Given the description of an element on the screen output the (x, y) to click on. 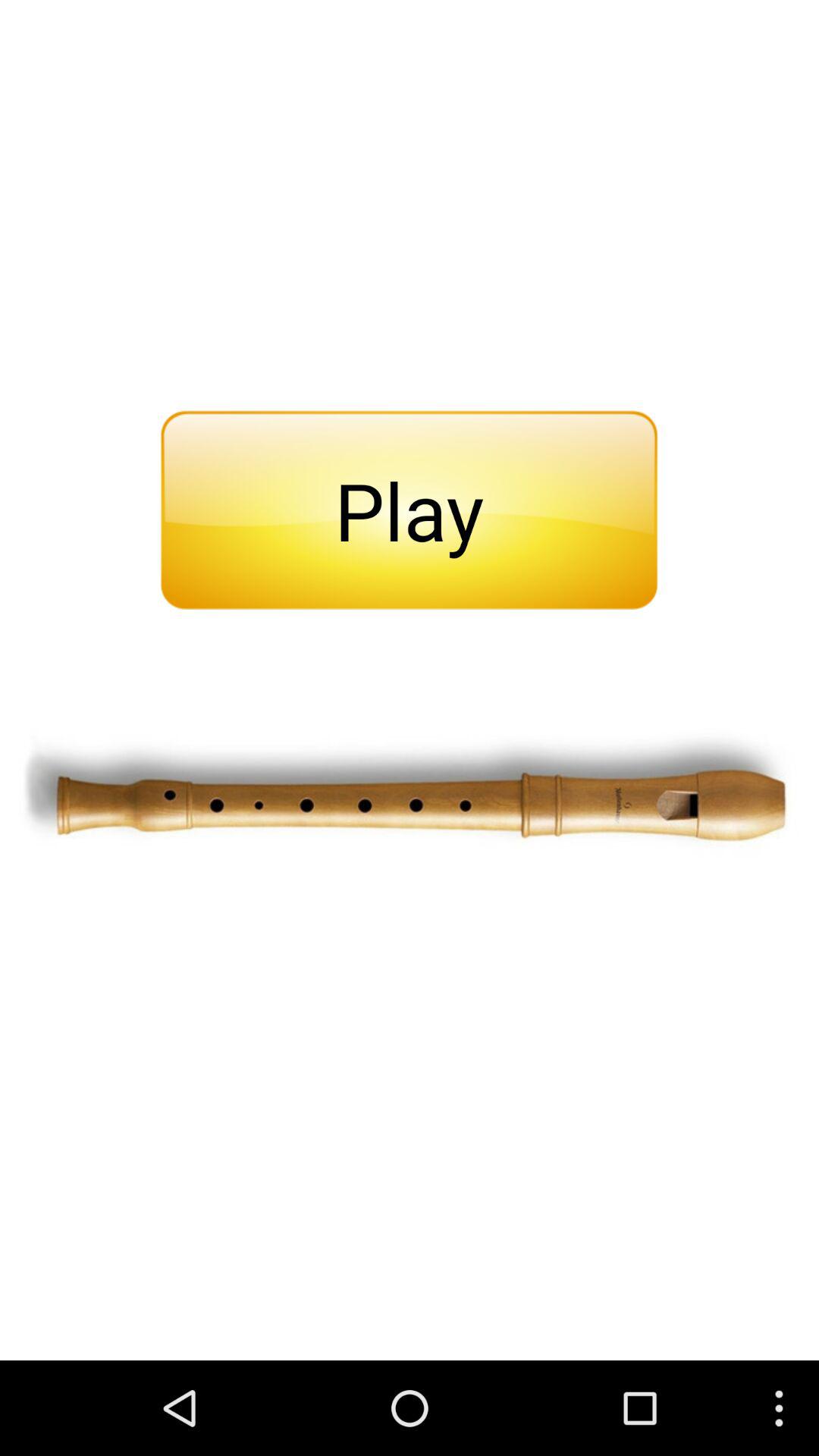
launch play icon (409, 509)
